Given the description of an element on the screen output the (x, y) to click on. 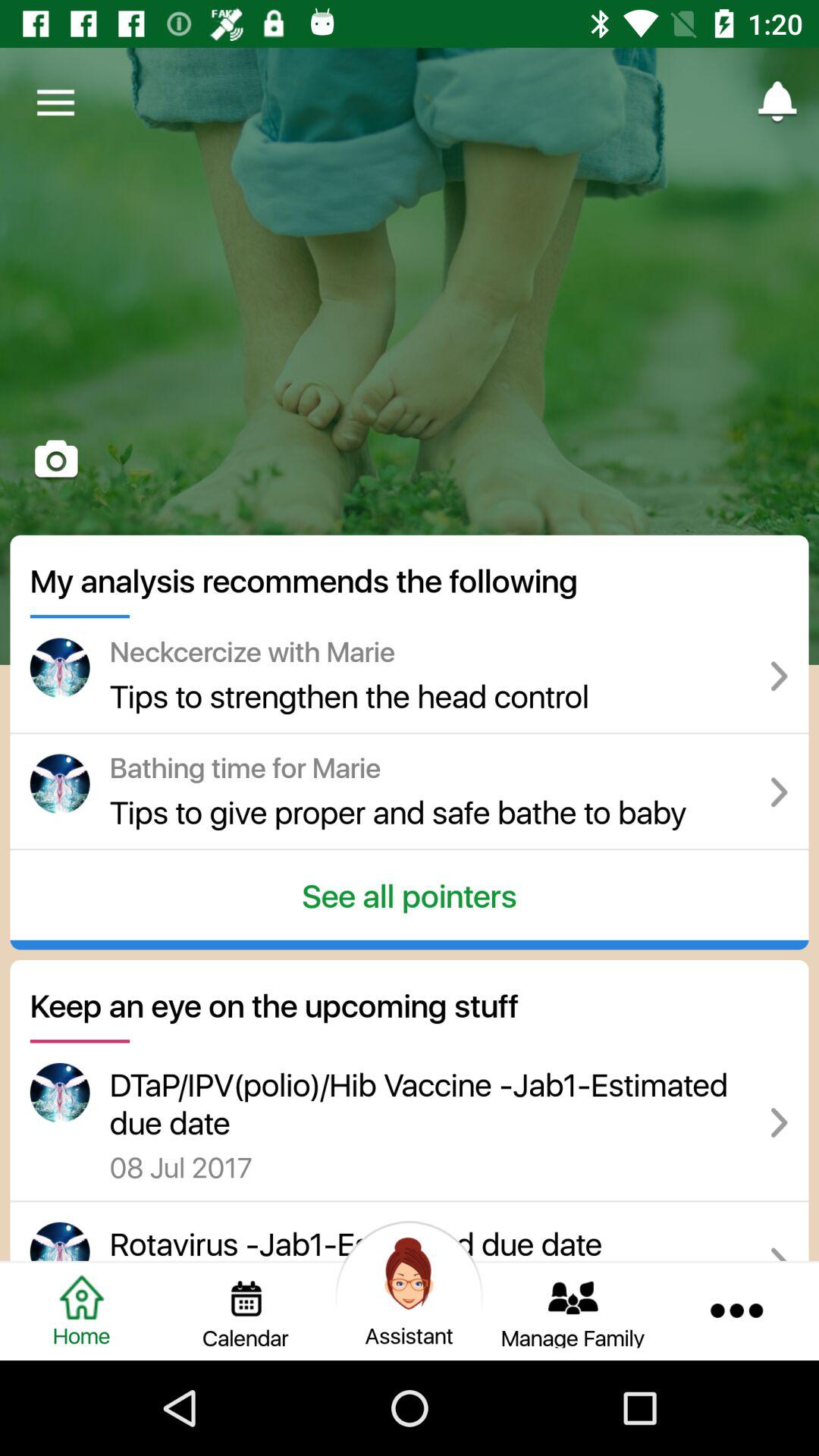
assistant (409, 1310)
